Given the description of an element on the screen output the (x, y) to click on. 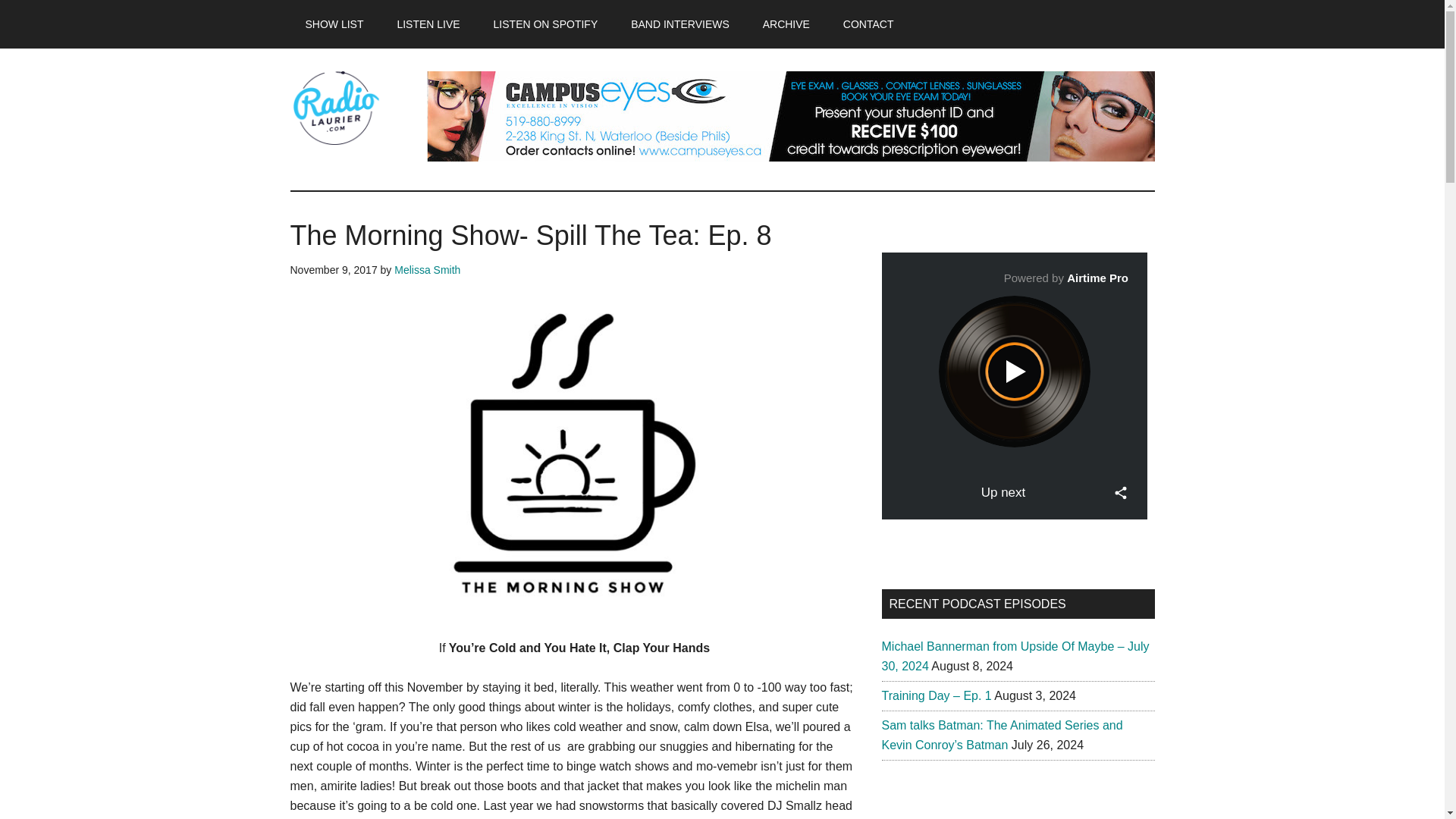
LISTEN ON SPOTIFY (545, 24)
LISTEN LIVE (427, 24)
SHOW LIST (333, 24)
CONTACT (868, 24)
ARCHIVE (786, 24)
BAND INTERVIEWS (679, 24)
